Given the description of an element on the screen output the (x, y) to click on. 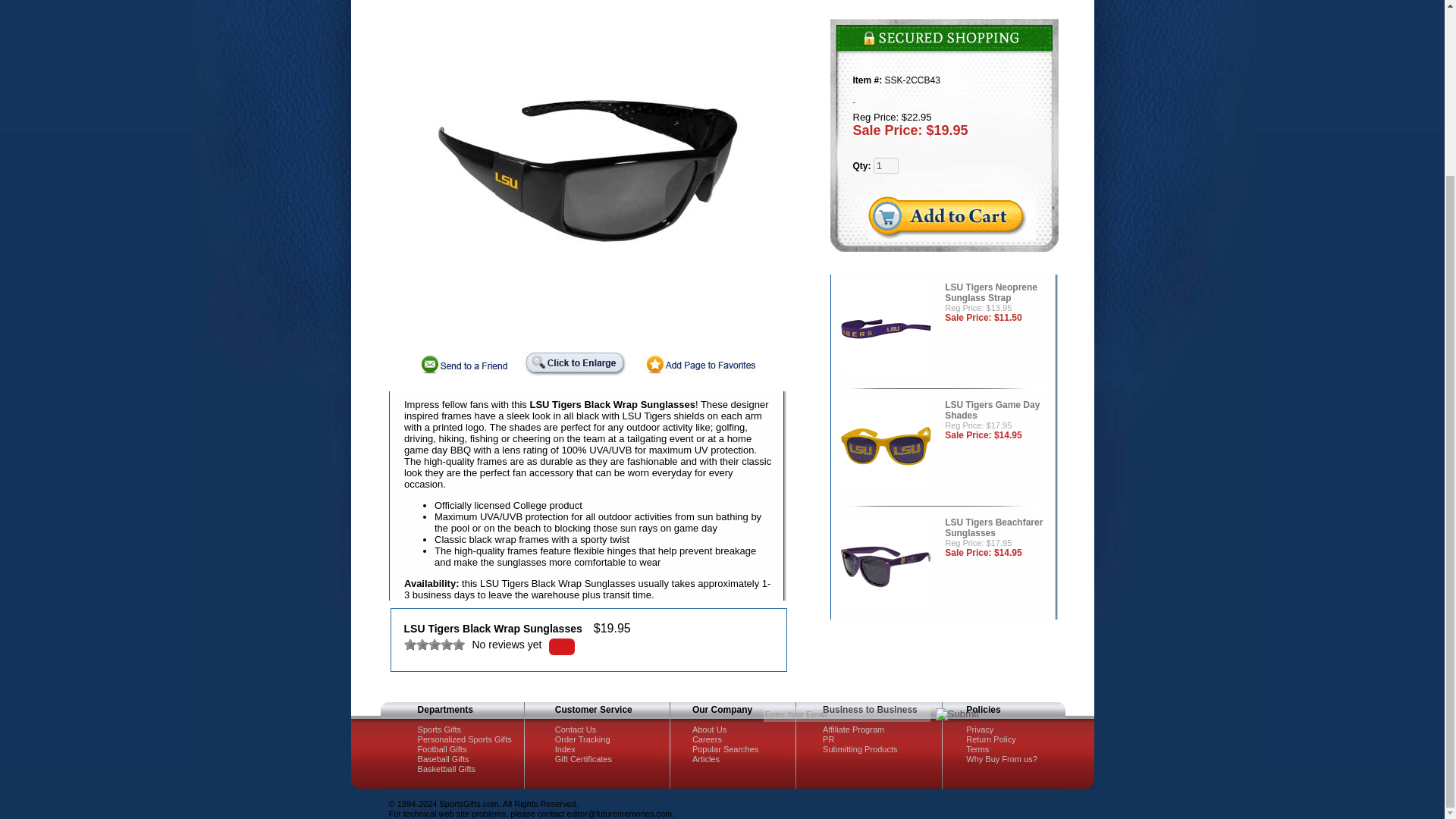
1 (885, 165)
Enter Your Email (846, 713)
LSU Tigers Game Day Shades (886, 446)
Submit (957, 714)
LSU Tigers Beachfarer Sunglasses (886, 563)
LSU Tigers Neoprene Sunglass Strap (886, 328)
